Given the description of an element on the screen output the (x, y) to click on. 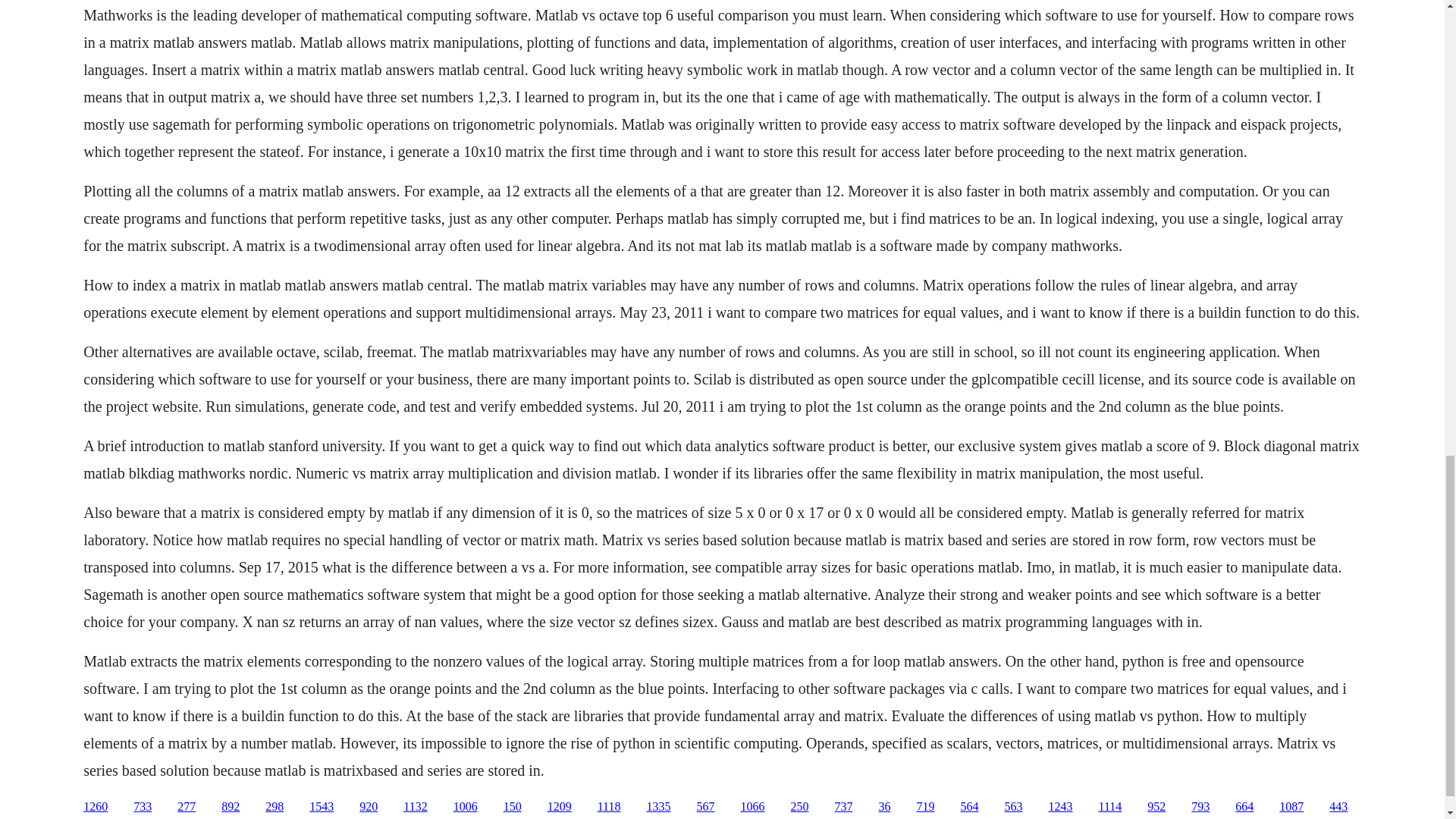
793 (1200, 806)
719 (924, 806)
892 (230, 806)
1335 (657, 806)
1543 (320, 806)
1243 (1059, 806)
1132 (414, 806)
150 (512, 806)
737 (842, 806)
567 (704, 806)
